Given the description of an element on the screen output the (x, y) to click on. 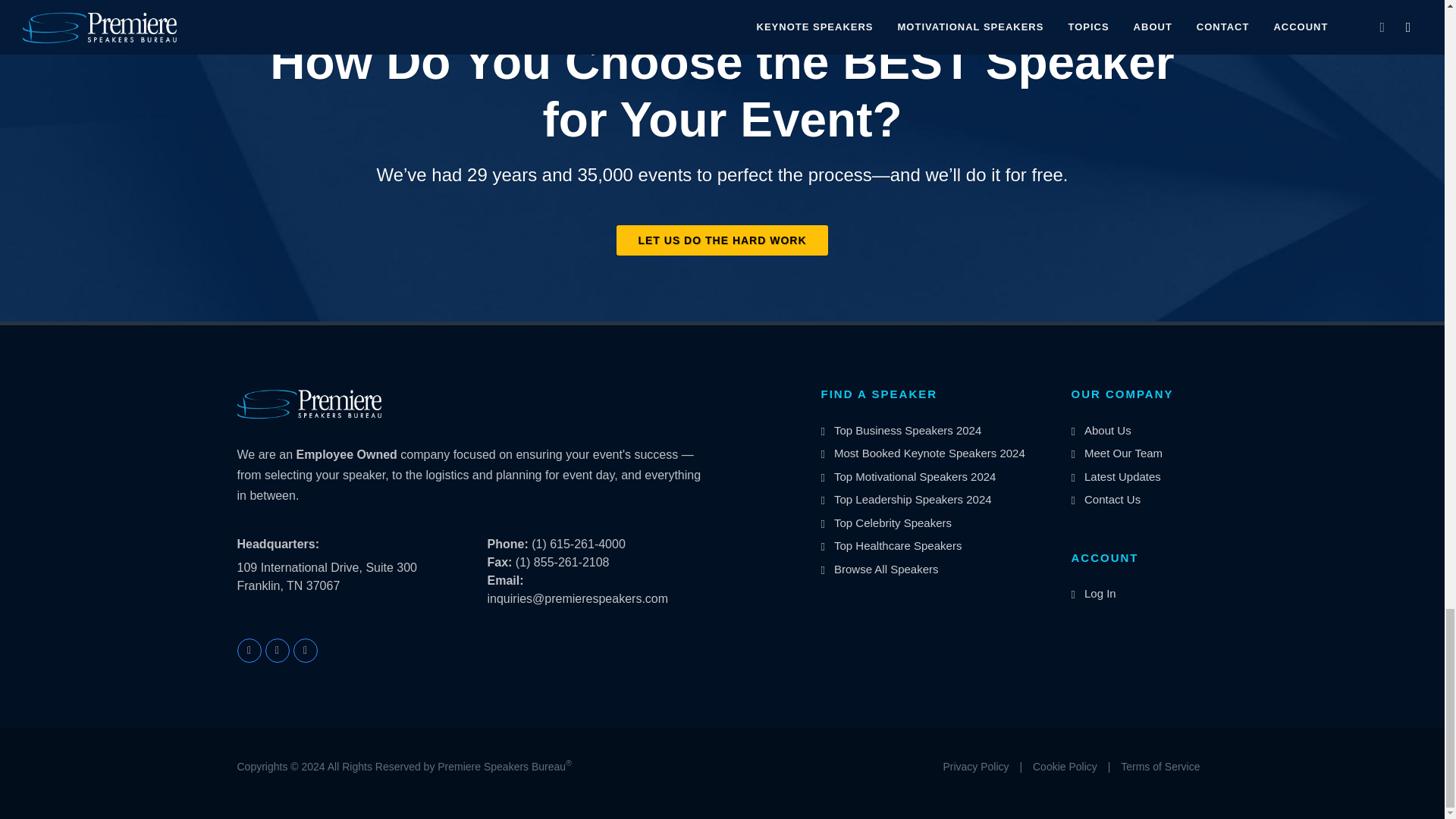
Headquarters (276, 544)
Cookie Policy (1064, 766)
Email Address (504, 580)
Phone Number (506, 543)
Fax (499, 562)
Terms of Service (1160, 766)
Privacy Policy (975, 766)
